Given the description of an element on the screen output the (x, y) to click on. 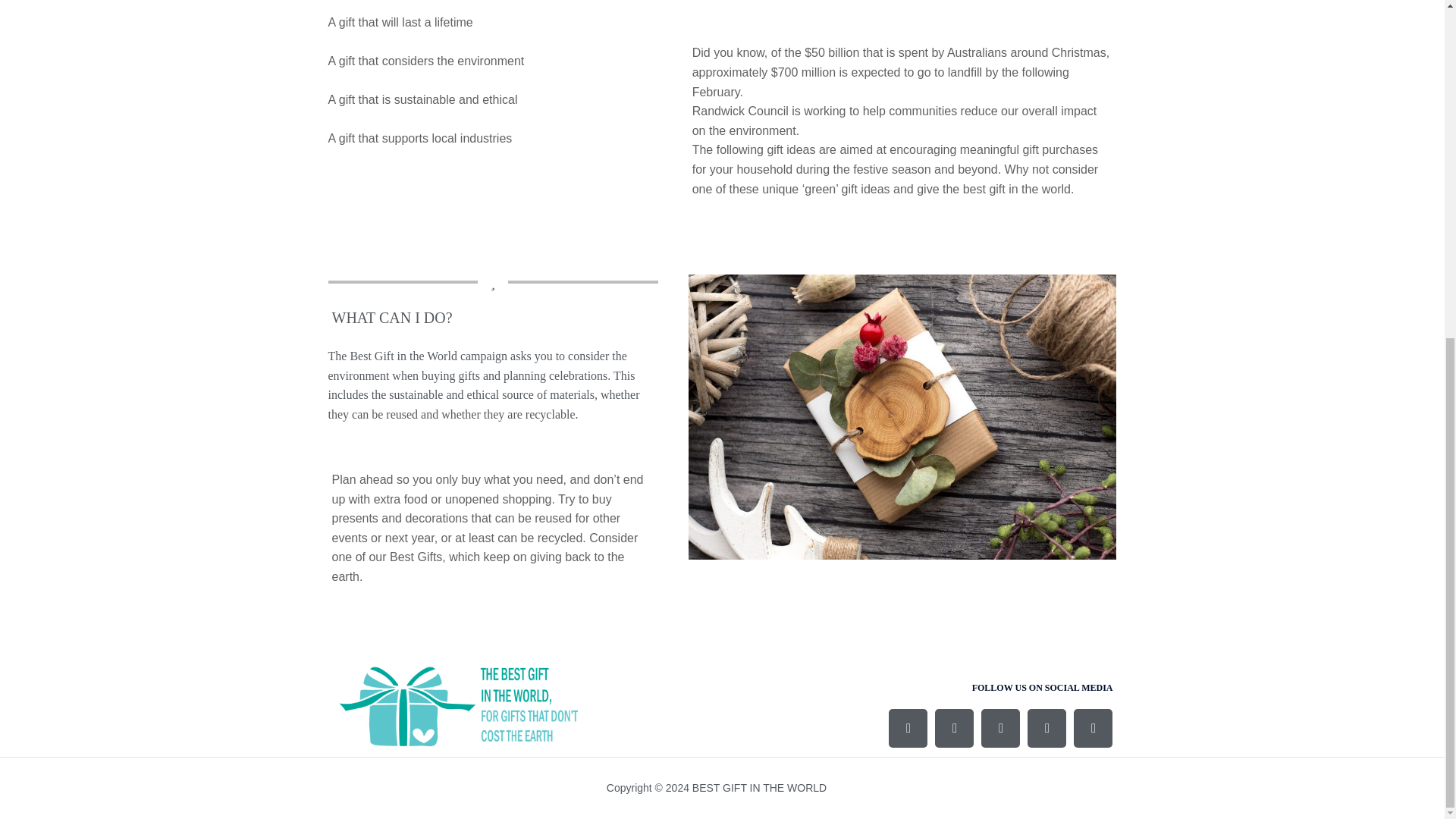
MAIL-BULK (1093, 728)
YOUTUBE (1000, 728)
INSTAGRAM (954, 728)
FACEBOOK-F (907, 728)
TWITTER (1046, 728)
